Given the description of an element on the screen output the (x, y) to click on. 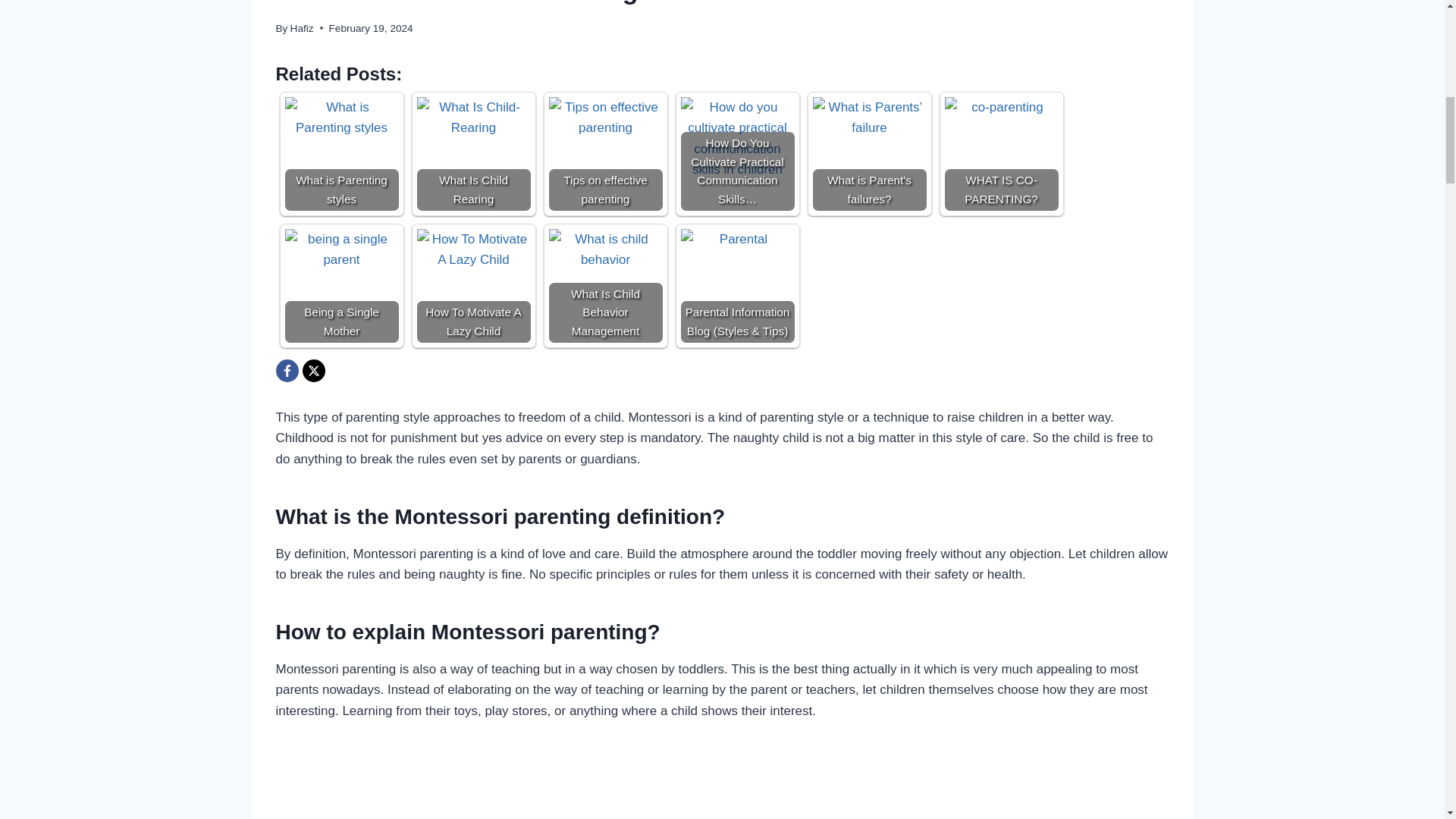
Tips on effective parenting (605, 153)
What is Parenting styles (341, 153)
Being a Single Mother (341, 286)
Being a Single Mother (341, 286)
How To Motivate A Lazy Child (473, 286)
How To Motivate A Lazy Child (473, 286)
Tips on effective parenting (605, 153)
What Is Child Behavior Management (605, 286)
What Is Child Rearing (473, 153)
Hafiz (301, 28)
What is Parent's failures? (869, 153)
What Is Child Rearing (473, 153)
WHAT IS CO-PARENTING? (1001, 134)
What is Parenting styles (341, 153)
